Given the description of an element on the screen output the (x, y) to click on. 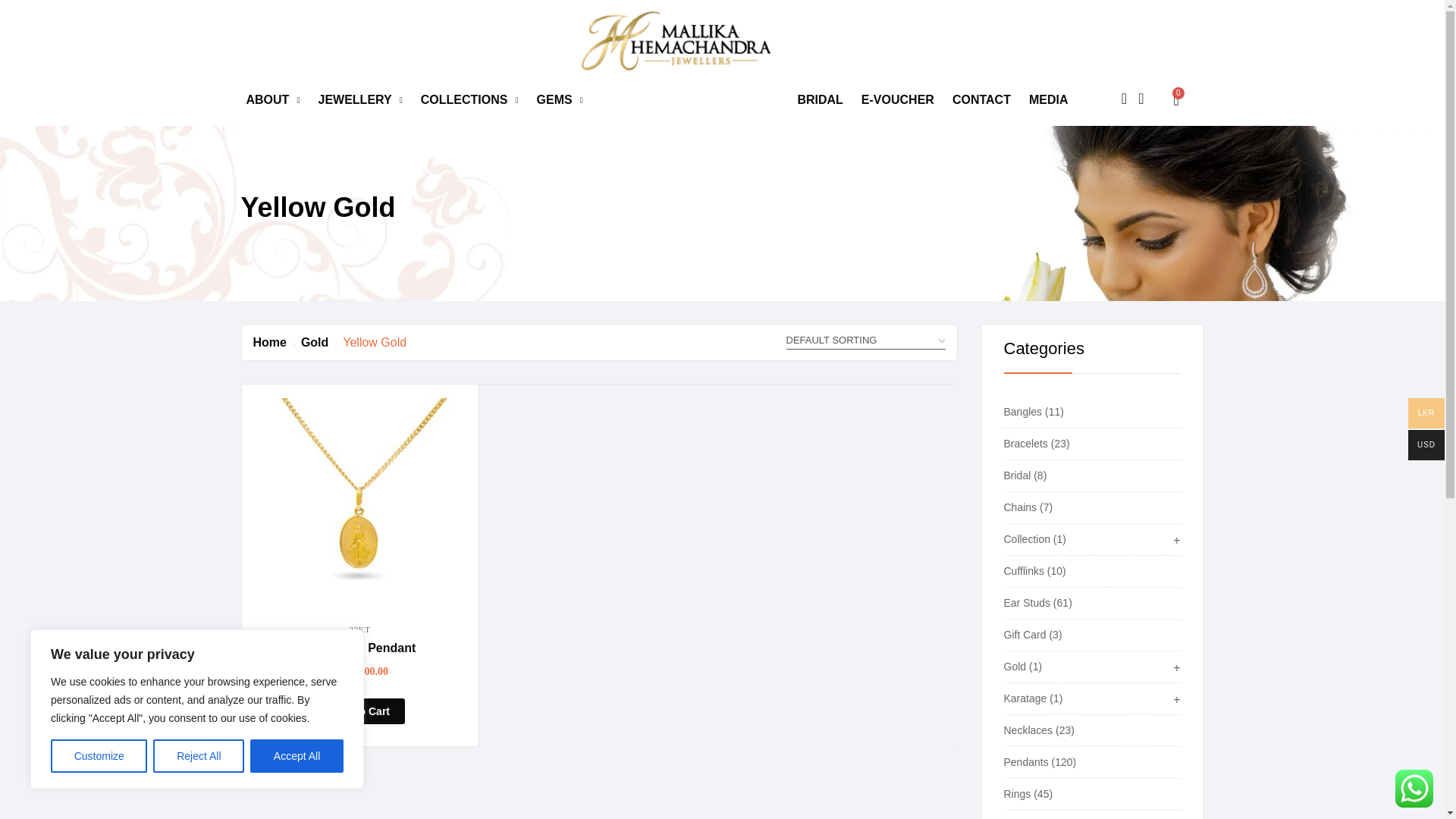
Customize (98, 756)
22KT Gold Pendant (359, 502)
Reject All (198, 756)
Accept All (296, 756)
